Given the description of an element on the screen output the (x, y) to click on. 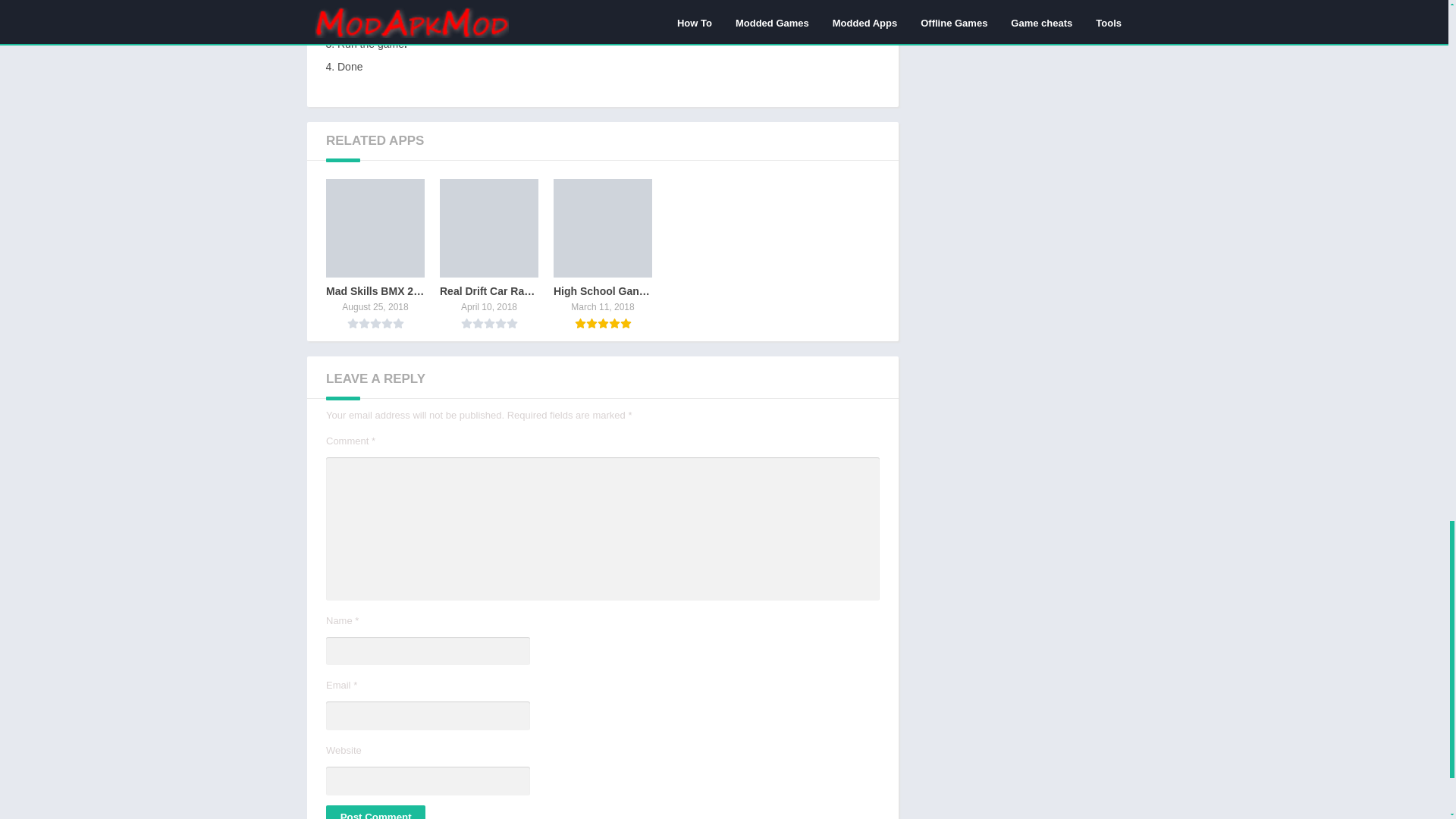
Mad Skills BMX 2 Mod Apk v1.1.4 For Android 3 (375, 228)
extract it (574, 4)
Post Comment (375, 812)
Post Comment (375, 812)
